Given the description of an element on the screen output the (x, y) to click on. 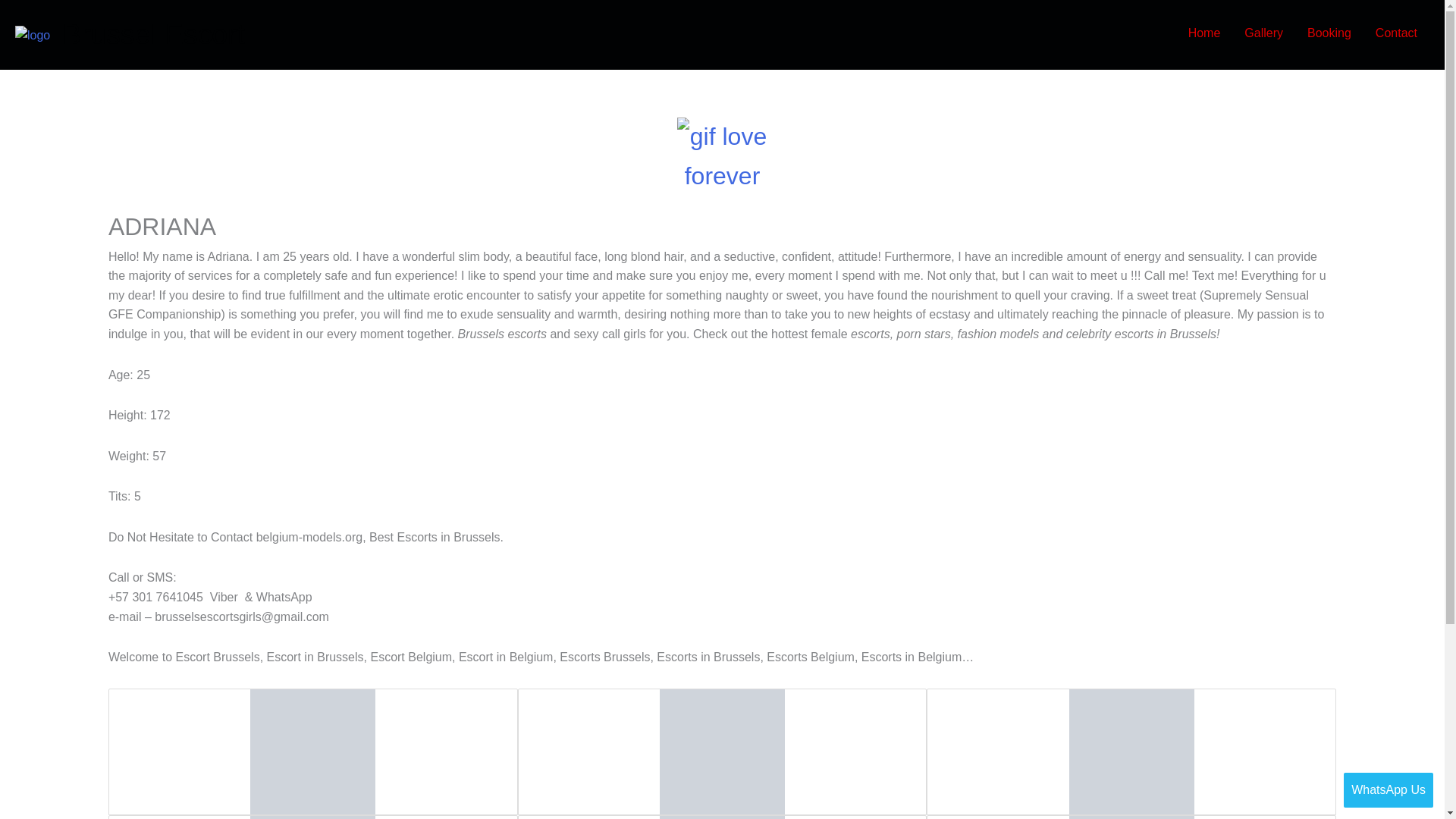
Booking (1328, 33)
Contact (1395, 33)
WhatsApp Us (1387, 790)
Brussel Escort (153, 33)
Gallery (1263, 33)
